Given the description of an element on the screen output the (x, y) to click on. 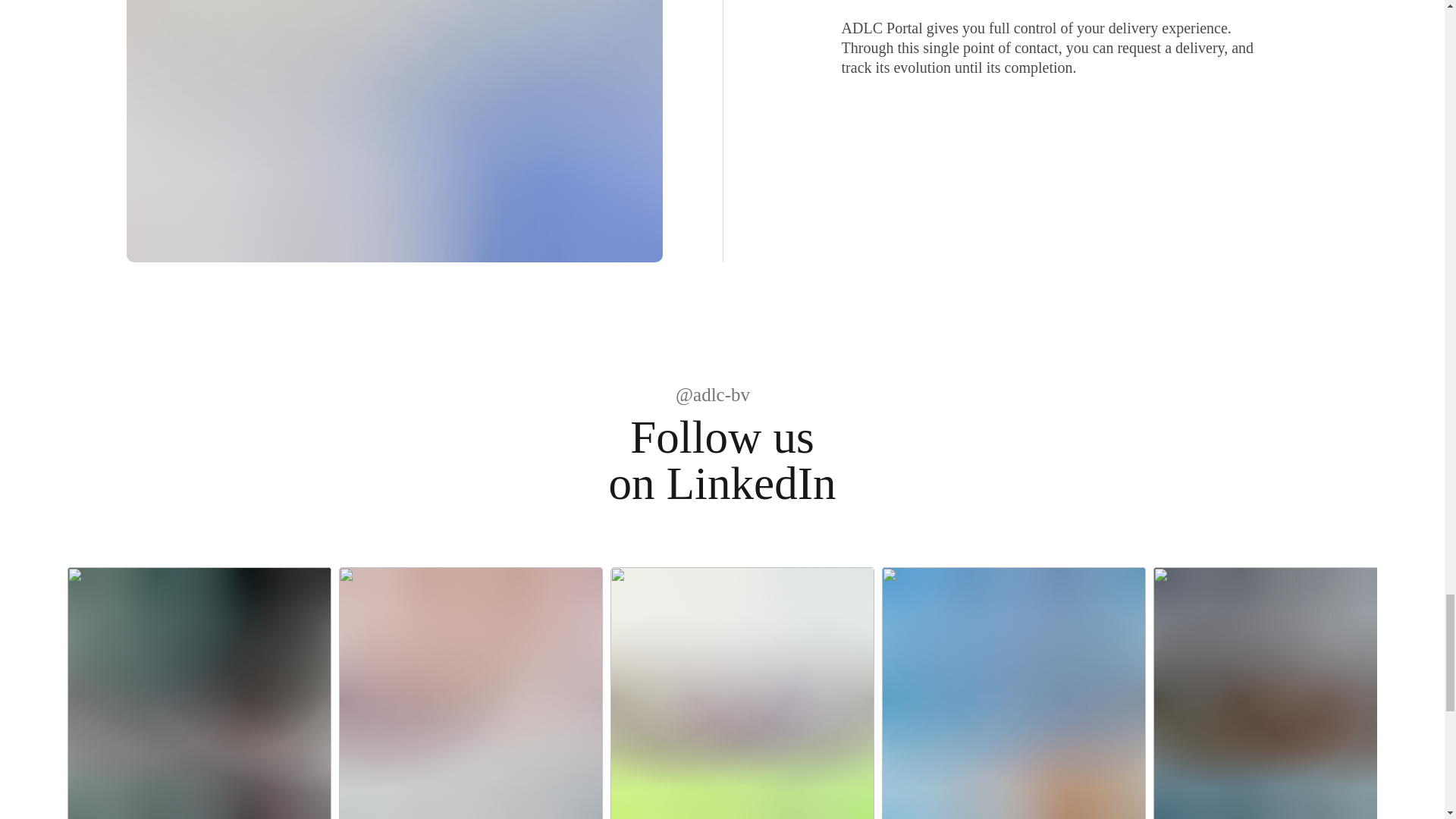
Follow us on LinkedIn (721, 459)
